Given the description of an element on the screen output the (x, y) to click on. 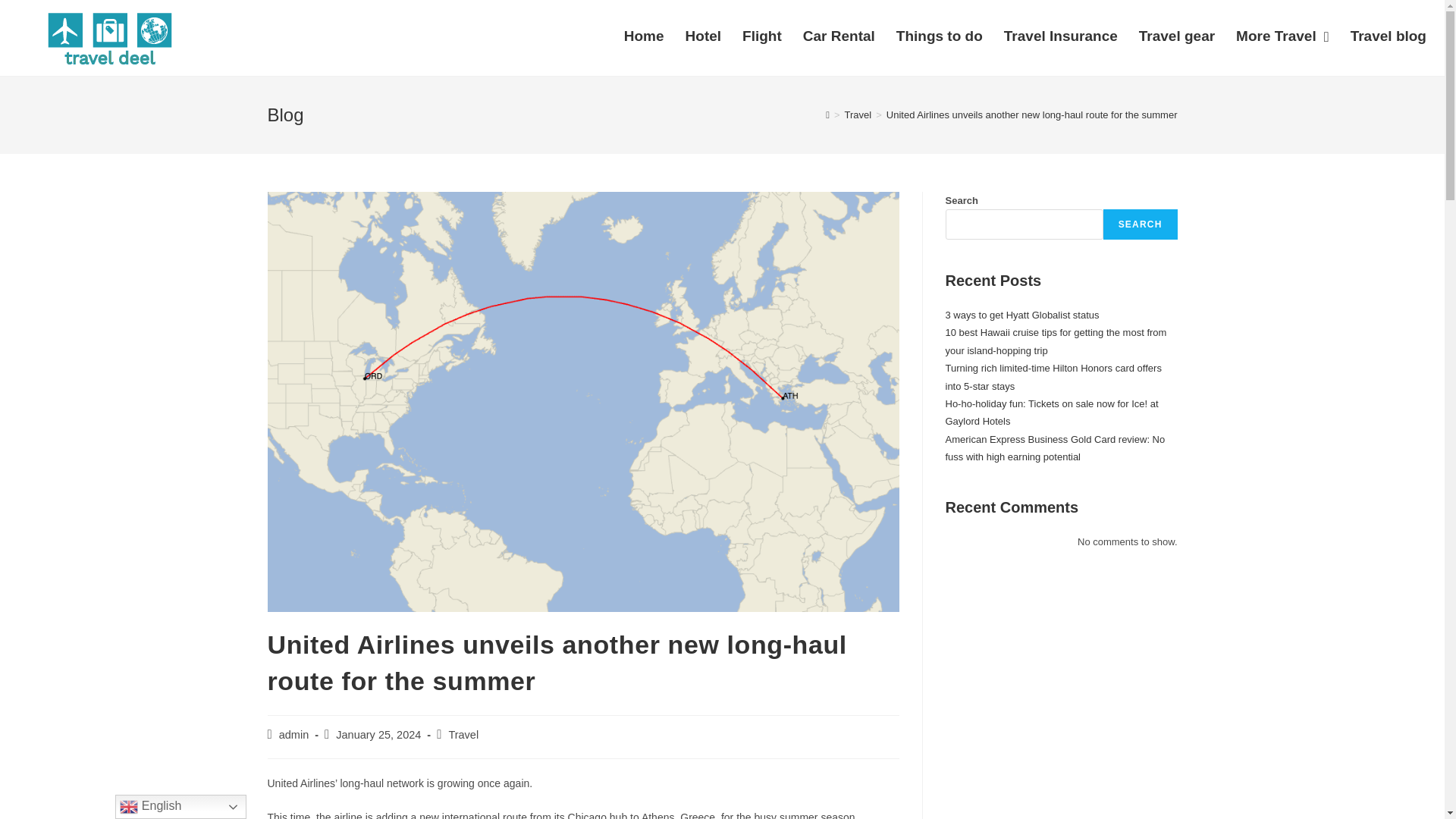
Travel Insurance (1060, 36)
Flight (762, 36)
Home (643, 36)
Posts by admin (293, 734)
Travel (463, 734)
More Travel (1282, 36)
Things to do (938, 36)
admin (293, 734)
Travel (858, 114)
Travel blog (1388, 36)
Car Rental (838, 36)
Travel gear (1176, 36)
Hotel (703, 36)
